Given the description of an element on the screen output the (x, y) to click on. 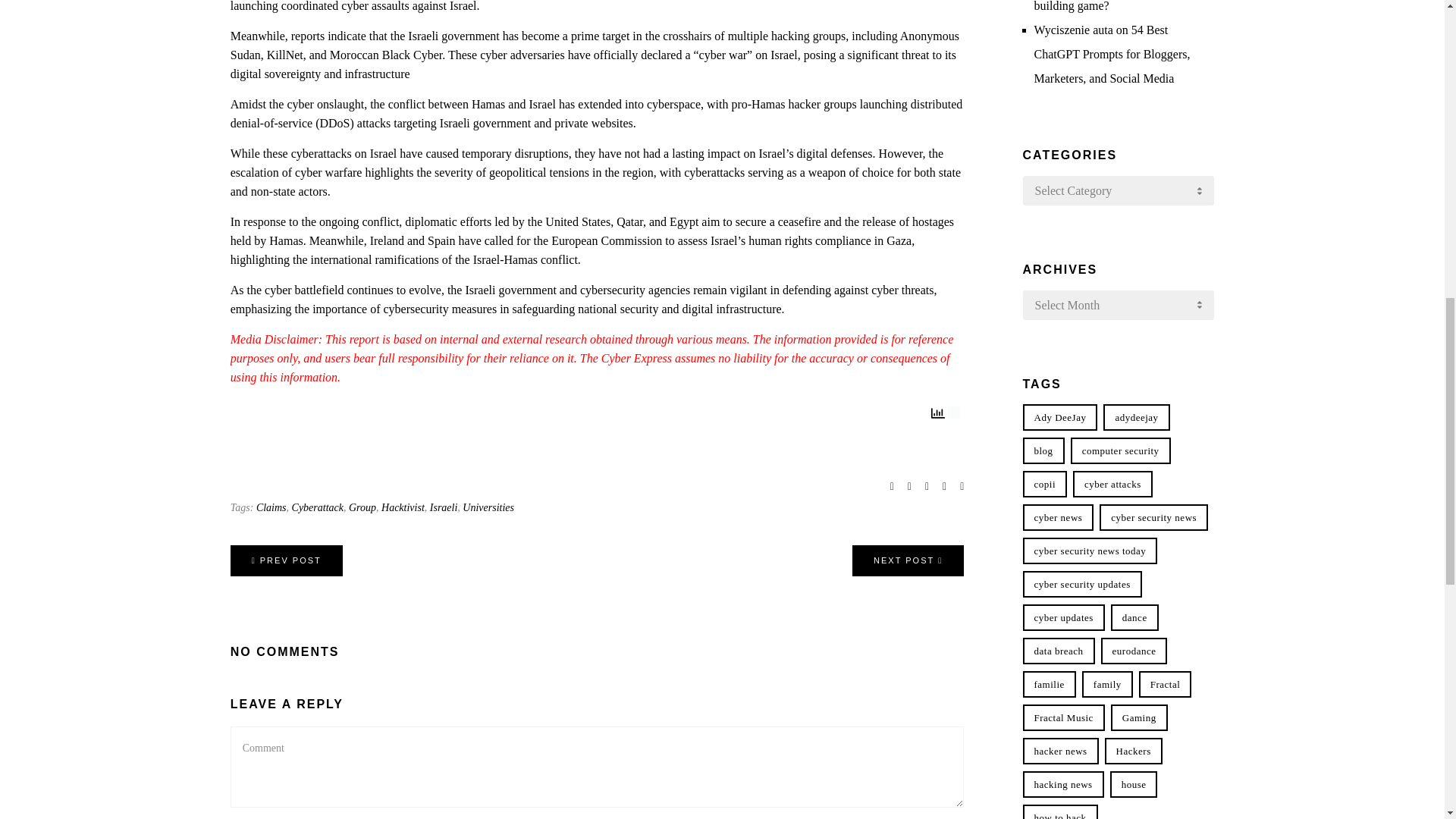
PREV POST (286, 560)
NEXT POST (907, 560)
Universities (488, 506)
Hacktivist (403, 506)
Cyberattack (317, 506)
